Given the description of an element on the screen output the (x, y) to click on. 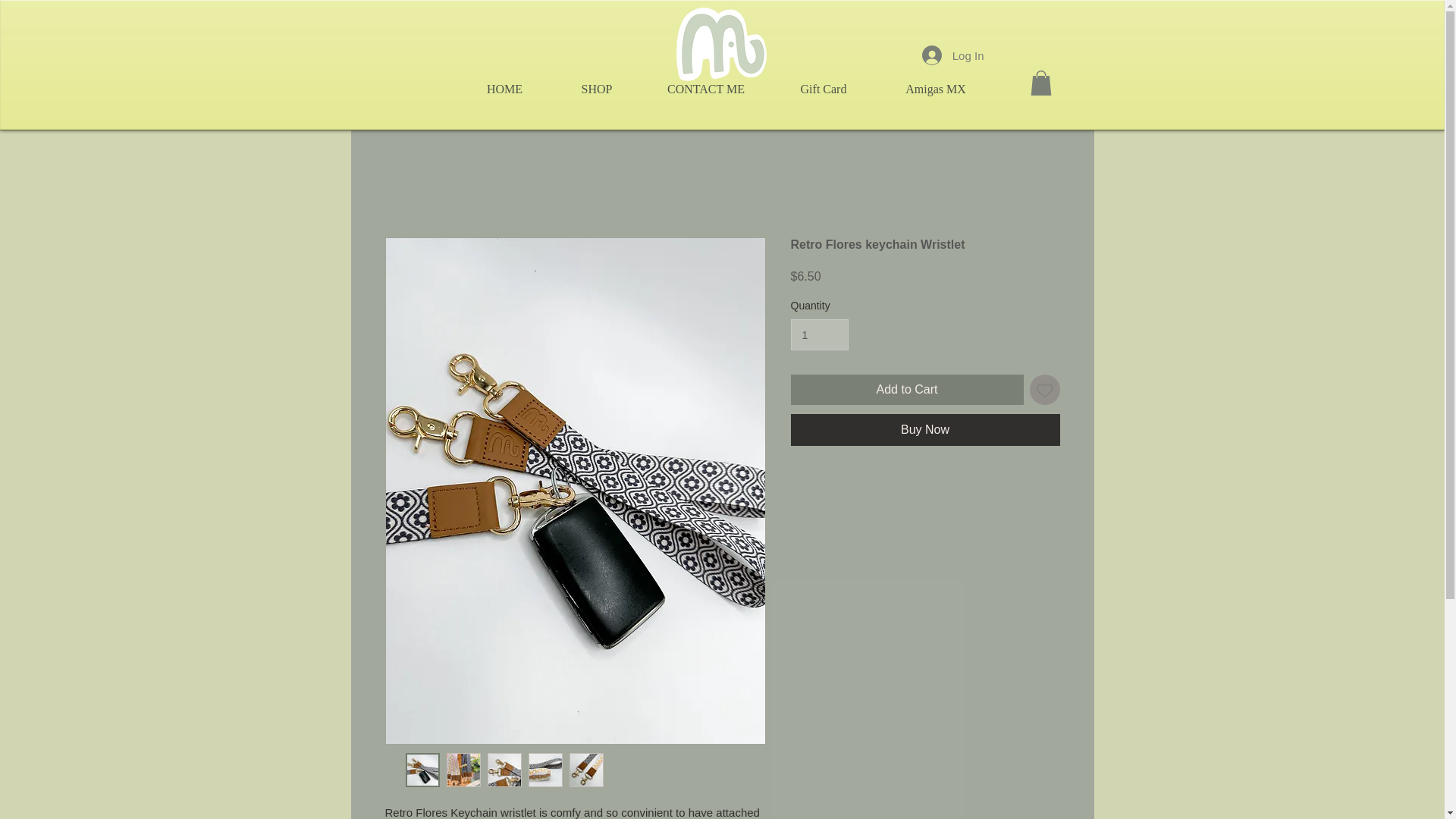
Gift Card (823, 89)
Amigas MX (935, 89)
Log In (952, 54)
Add to Cart (906, 389)
HOME (504, 89)
Buy Now (924, 429)
1 (818, 334)
CONTACT ME (706, 89)
